Given the description of an element on the screen output the (x, y) to click on. 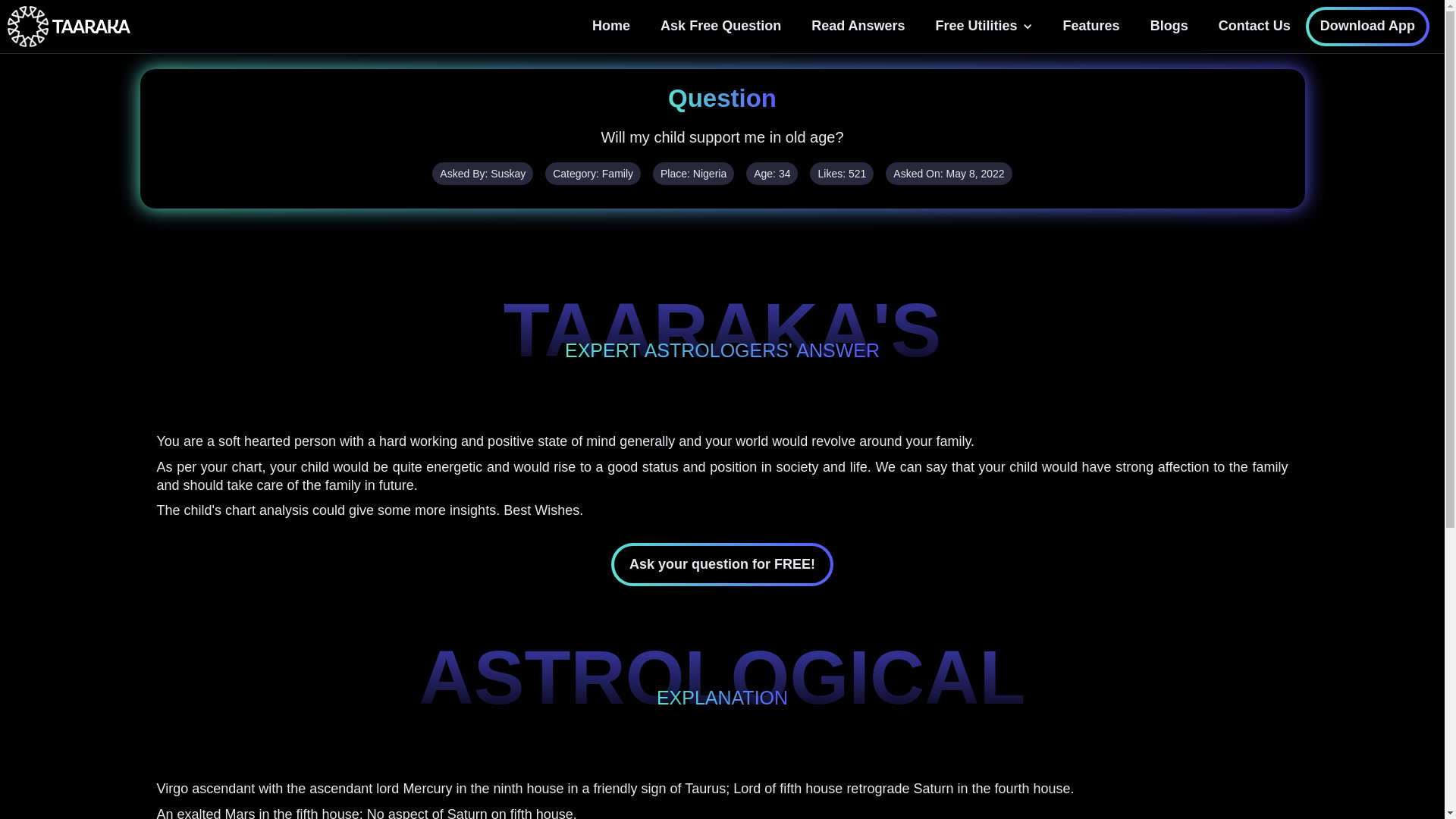
Home (610, 25)
Contact Us (1255, 25)
Read Answers (858, 25)
Ask Free Question (720, 25)
Features (1091, 25)
Ask your question for FREE! (721, 564)
Blogs (1169, 25)
Download App (1367, 25)
